Given the description of an element on the screen output the (x, y) to click on. 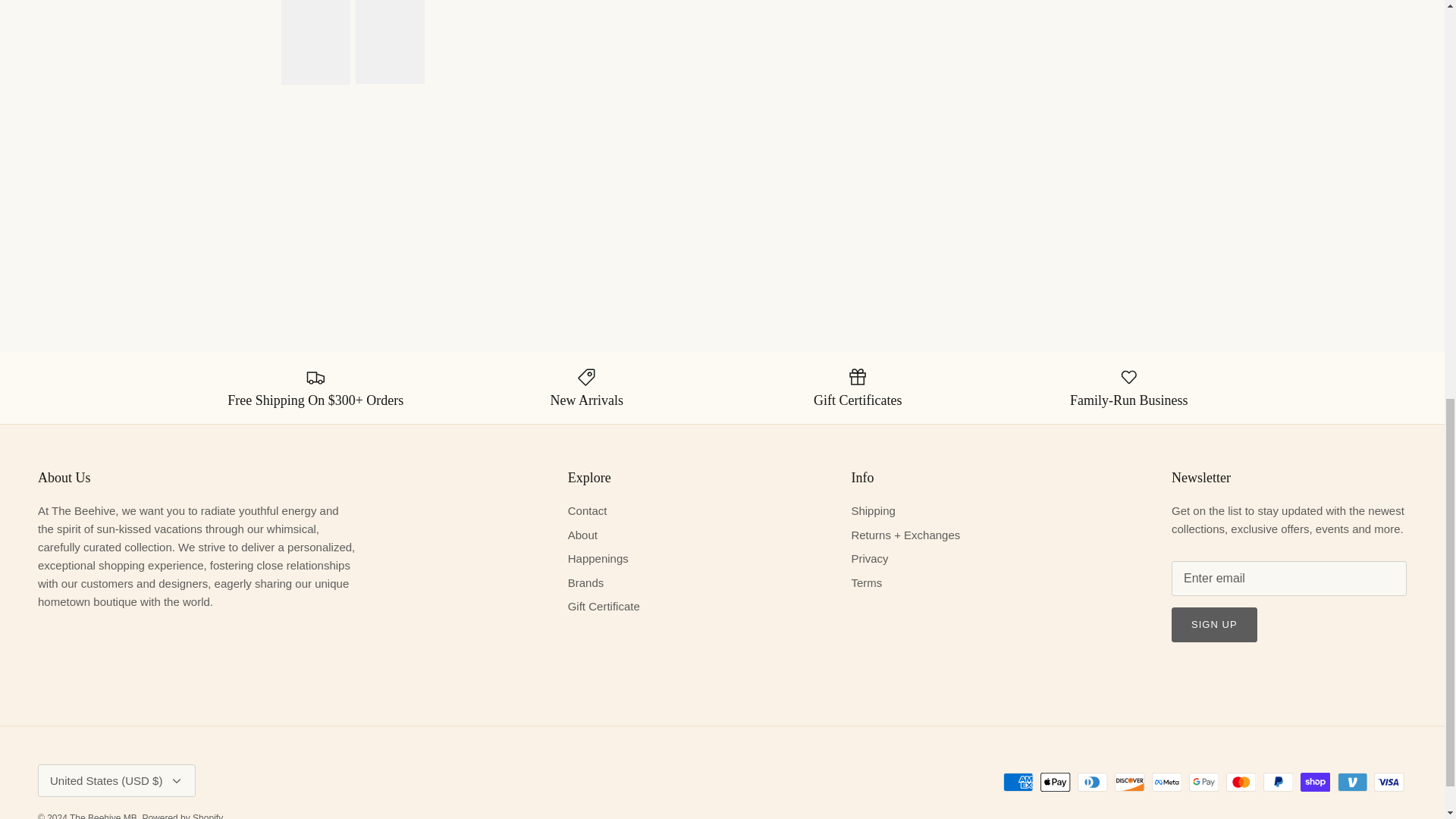
Mastercard (1240, 782)
Diners Club (1092, 782)
Google Pay (1203, 782)
Visa (1388, 782)
American Express (1018, 782)
Discover (1129, 782)
Apple Pay (1055, 782)
PayPal (1277, 782)
Meta Pay (1166, 782)
Venmo (1352, 782)
